Given the description of an element on the screen output the (x, y) to click on. 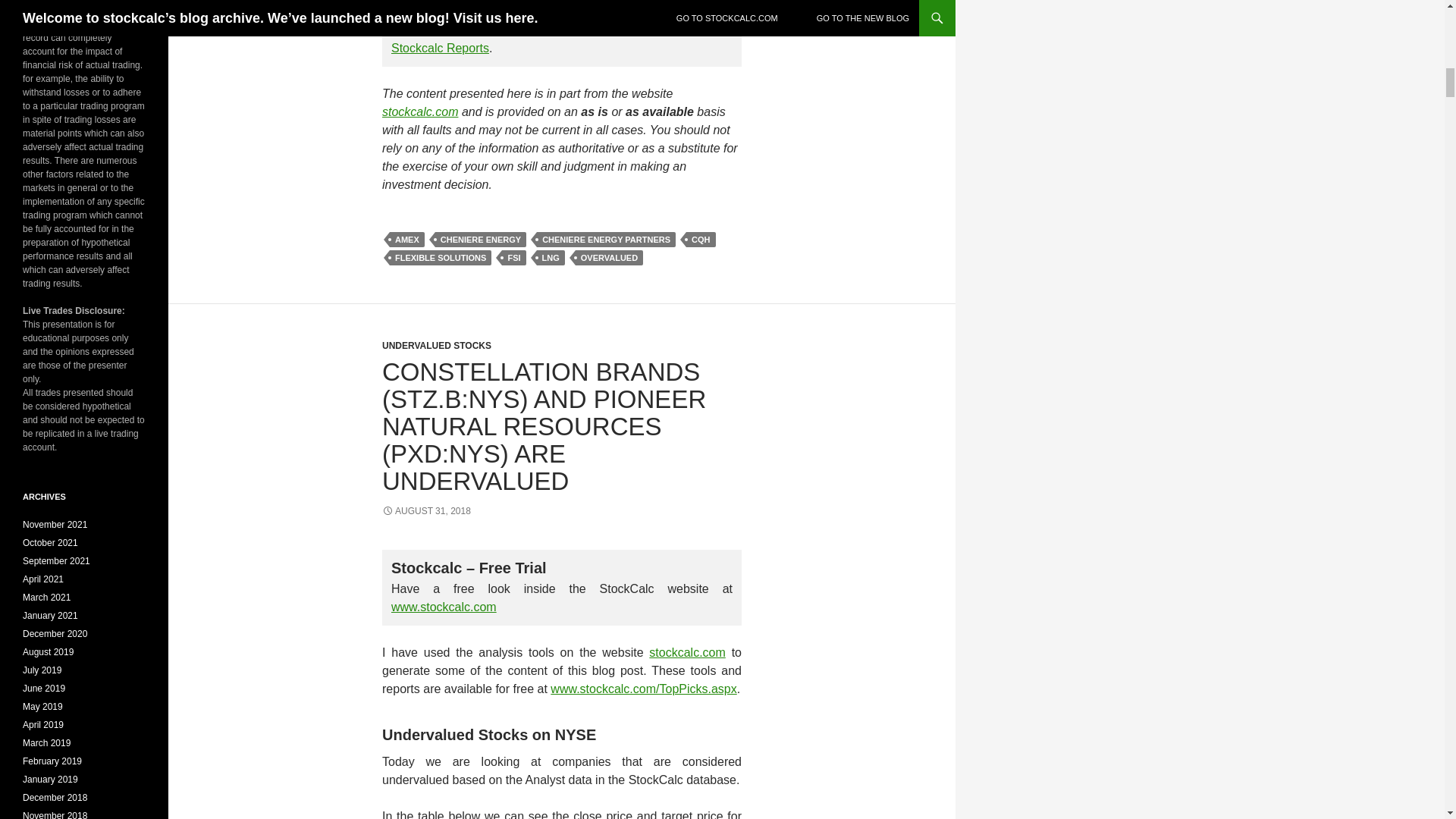
FLEXIBLE SOLUTIONS (441, 257)
CHENIERE ENERGY PARTNERS (606, 239)
stockcalc.com (419, 111)
FSI (513, 257)
www.stockcalc.com (443, 606)
CQH (699, 239)
OVERVALUED (609, 257)
stockcalc.com (687, 652)
CHENIERE ENERGY (480, 239)
LNG (550, 257)
UNDERVALUED STOCKS (436, 345)
AUGUST 31, 2018 (425, 511)
AMEX (407, 239)
Stockcalc Reports (440, 47)
